Given the description of an element on the screen output the (x, y) to click on. 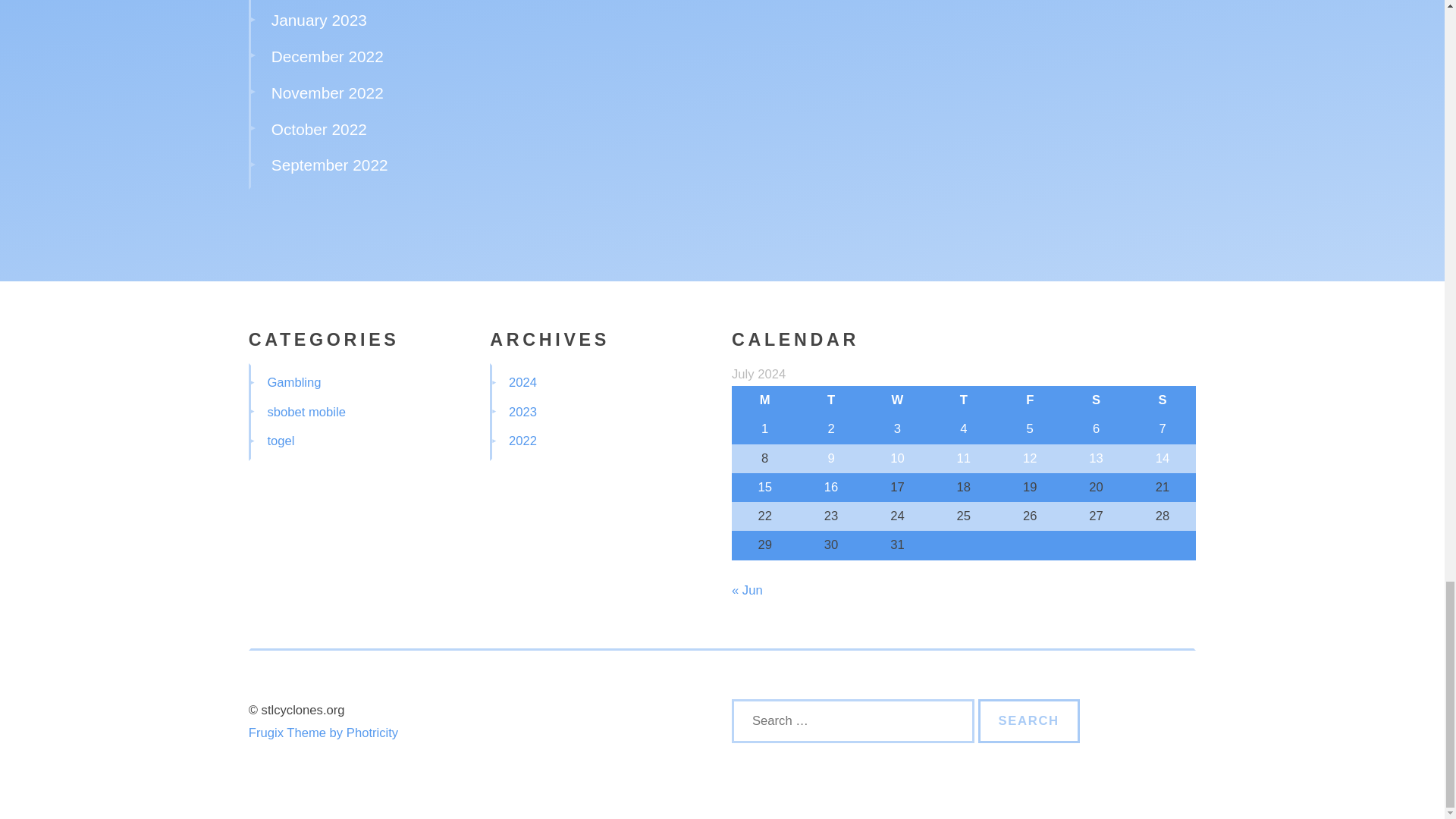
Search (1029, 720)
Monday (764, 399)
togel (280, 440)
Search (1029, 720)
Friday (1029, 399)
December 2022 (327, 56)
Tuesday (830, 399)
January 2023 (318, 19)
2024 (522, 382)
Sunday (1162, 399)
sbobet mobile (306, 411)
Wednesday (897, 399)
Thursday (962, 399)
October 2022 (318, 129)
September 2022 (329, 164)
